Given the description of an element on the screen output the (x, y) to click on. 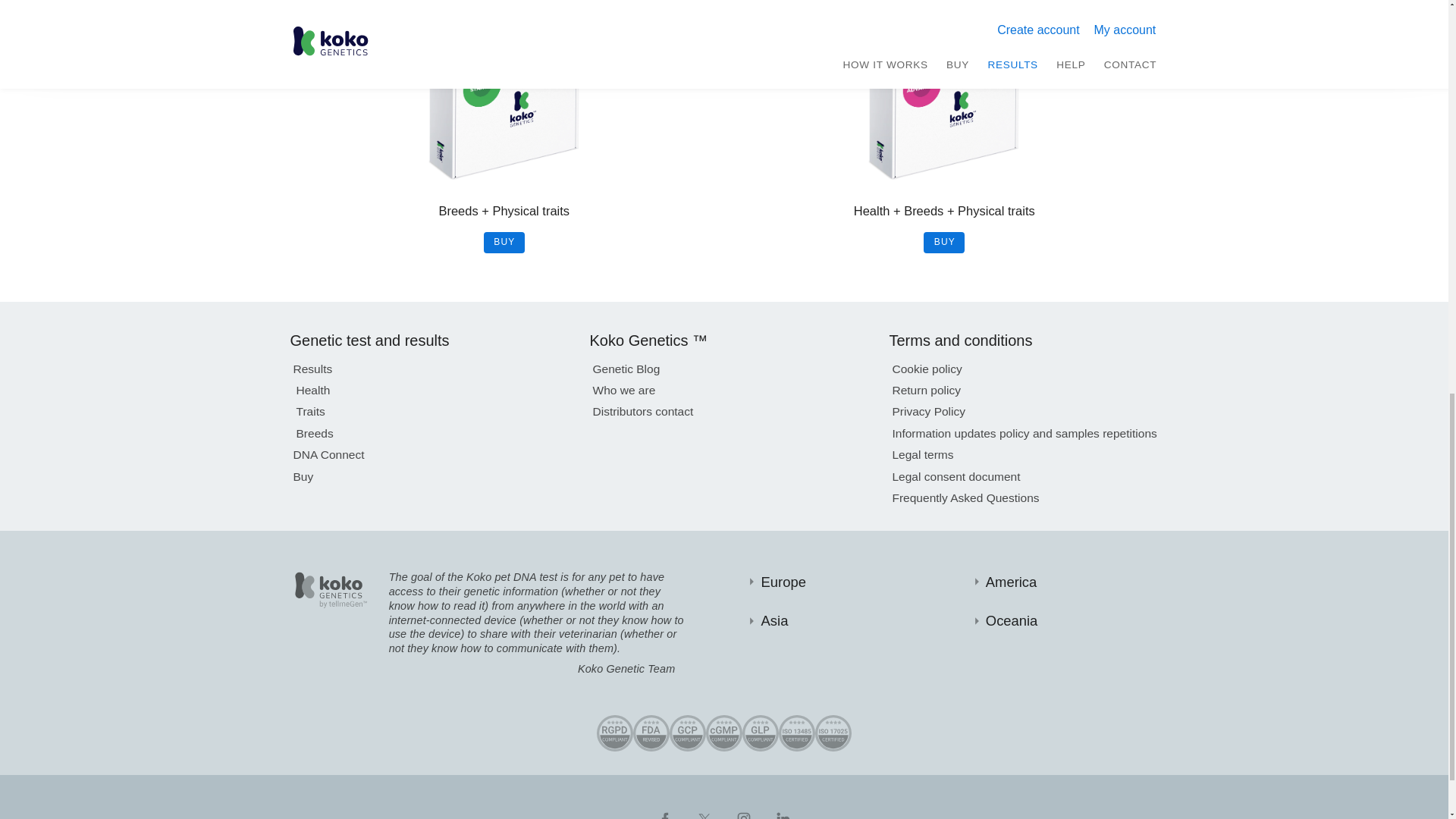
Breeds (314, 430)
Traits (309, 408)
Privacy Policy (928, 408)
Cookie policy (925, 366)
Results (311, 366)
DNA Connect (328, 452)
BUY (503, 242)
Genetic Blog (625, 366)
Who we are (623, 387)
Health (312, 387)
Legal consent document (955, 474)
Return policy (925, 387)
Buy (302, 474)
BUY (943, 242)
Information updates policy and samples repetitions (1023, 430)
